Given the description of an element on the screen output the (x, y) to click on. 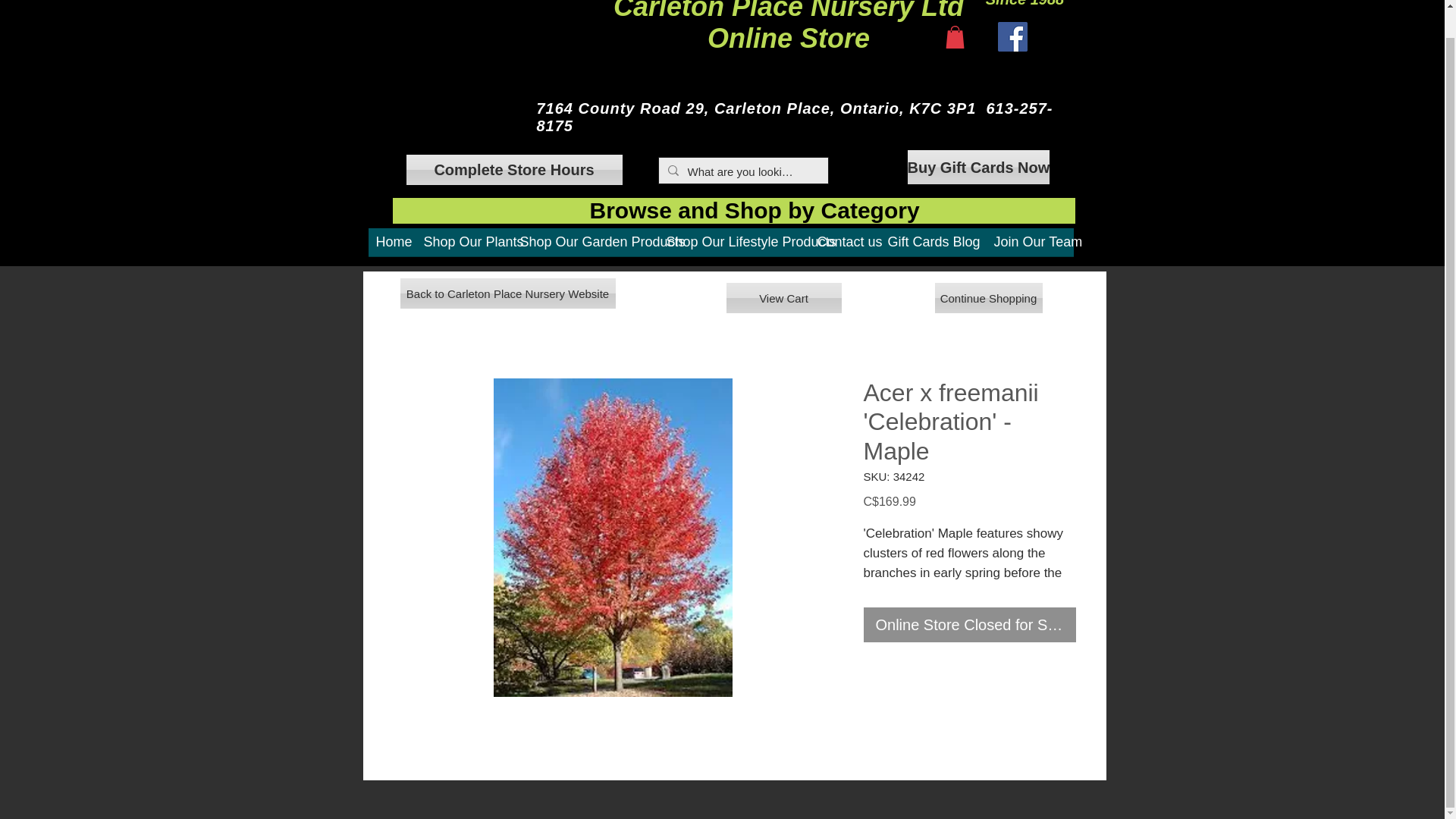
Blog (964, 247)
Join Our Team (787, 27)
Complete Store Hours (1029, 247)
Buy Gift Cards Now (514, 169)
Online Store Closed for Season (978, 166)
View Cart (969, 624)
Gift Cards (783, 297)
Home (911, 247)
Continue Shopping (392, 247)
